Given the description of an element on the screen output the (x, y) to click on. 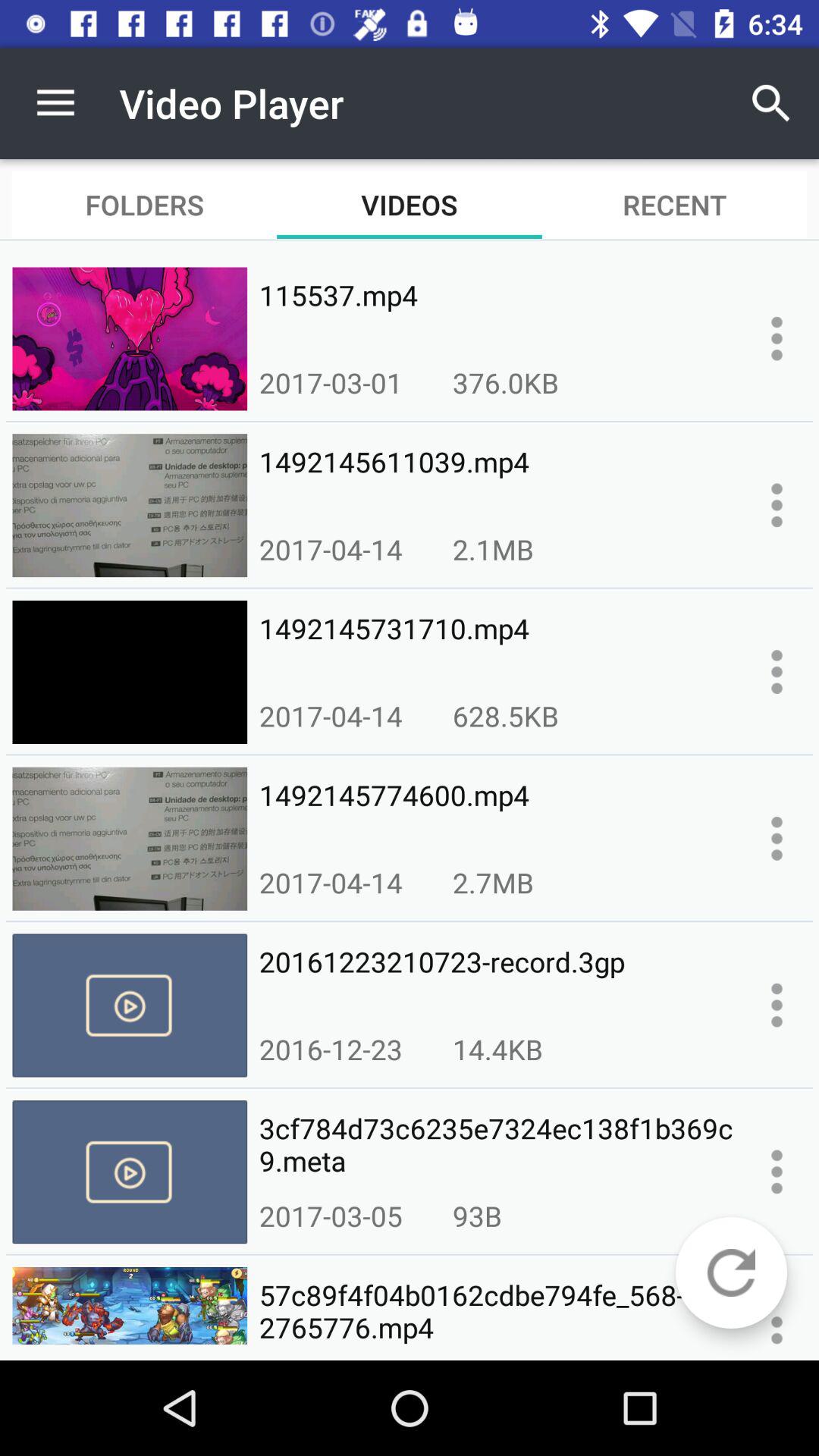
more information (776, 1171)
